Given the description of an element on the screen output the (x, y) to click on. 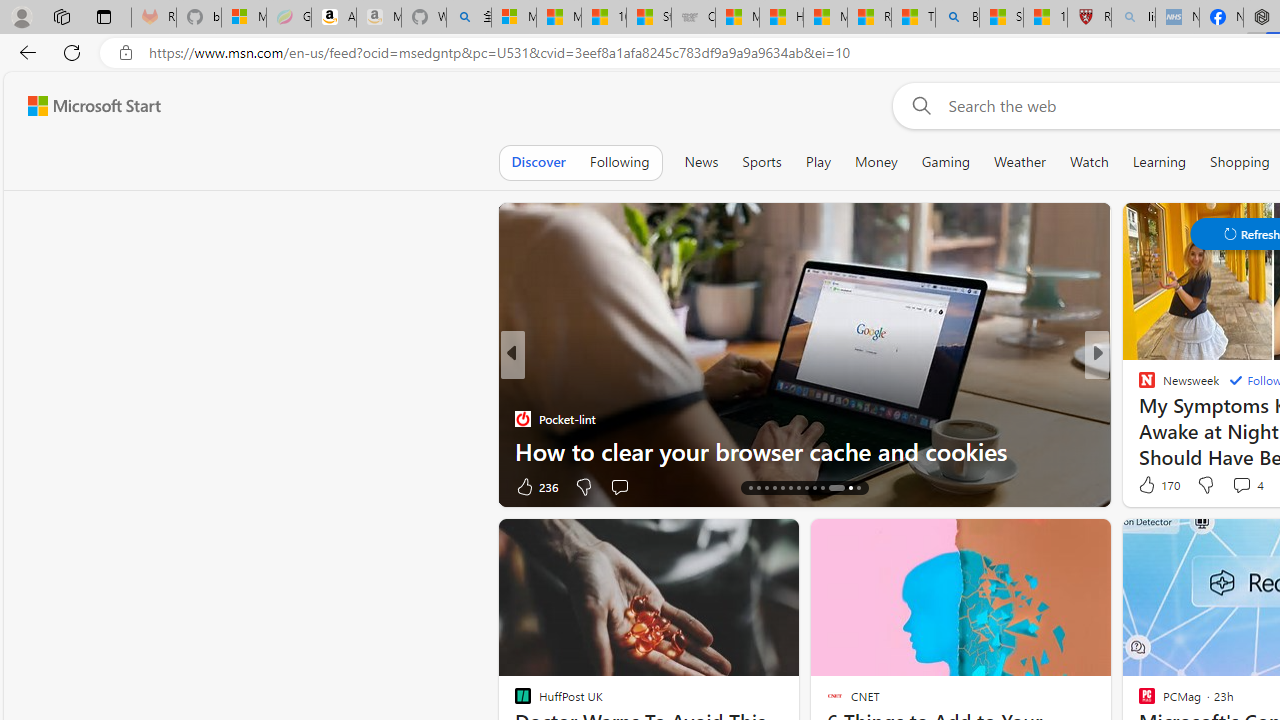
Start the conversation (619, 486)
View comments 18 Comment (11, 485)
AutomationID: tab-22 (814, 487)
Stocks - MSN (648, 17)
Weather (1019, 162)
AutomationID: tab-14 (750, 487)
View comments 11 Comment (11, 485)
AutomationID: tab-18 (782, 487)
Robert H. Shmerling, MD - Harvard Health (1089, 17)
AutomationID: tab-15 (757, 487)
